Given the description of an element on the screen output the (x, y) to click on. 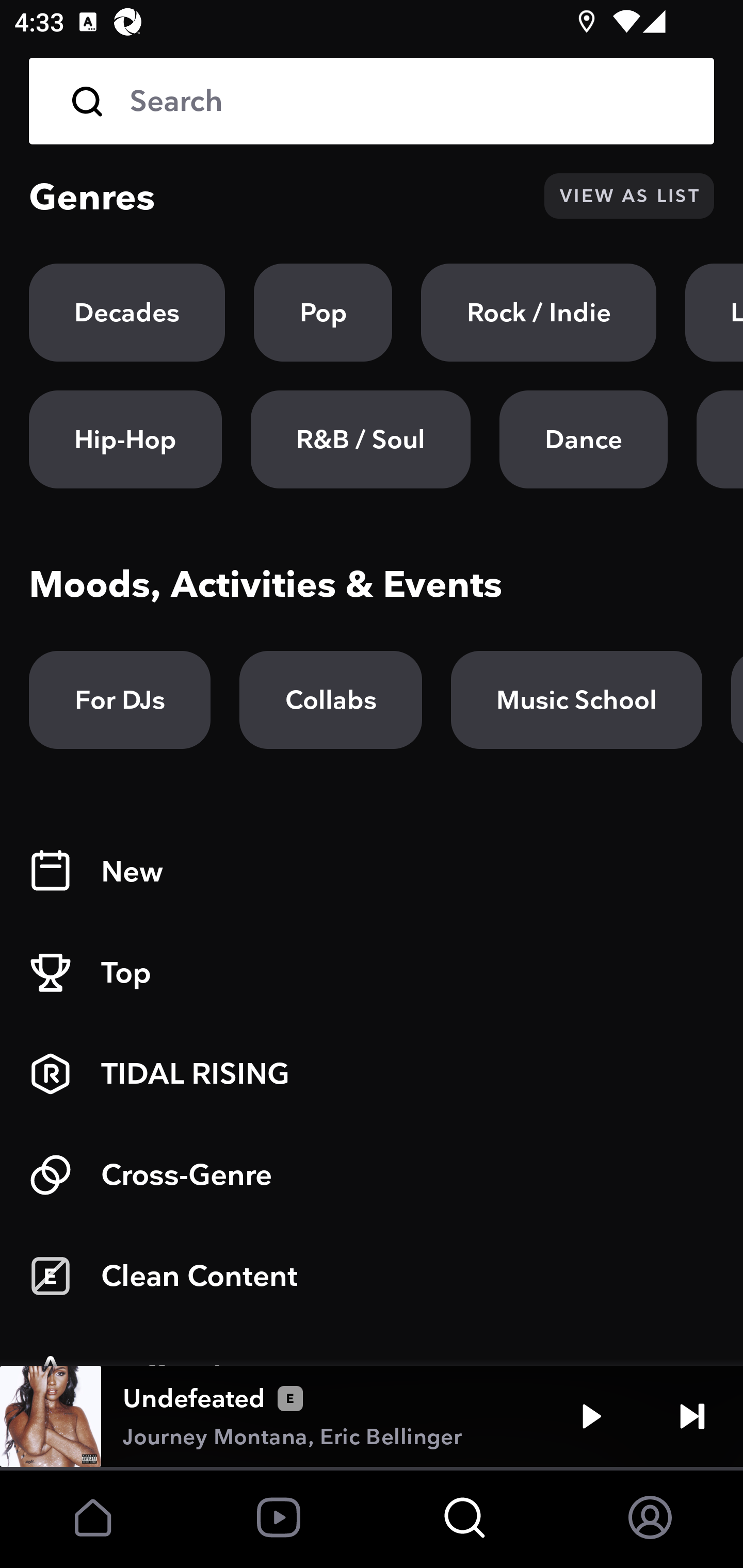
Search (371, 101)
Search (407, 100)
VIEW AS LIST (629, 195)
Decades (126, 312)
Pop (323, 312)
Rock / Indie (538, 312)
Hip-Hop (125, 439)
R&B / Soul (360, 439)
Dance (583, 439)
For DJs (119, 699)
Collabs (330, 699)
Music School (576, 699)
New (371, 871)
Top (371, 972)
TIDAL RISING (371, 1073)
Cross-Genre (371, 1175)
Clean Content (371, 1276)
Undefeated    Journey Montana, Eric Bellinger Play (371, 1416)
Play (590, 1416)
